Given the description of an element on the screen output the (x, y) to click on. 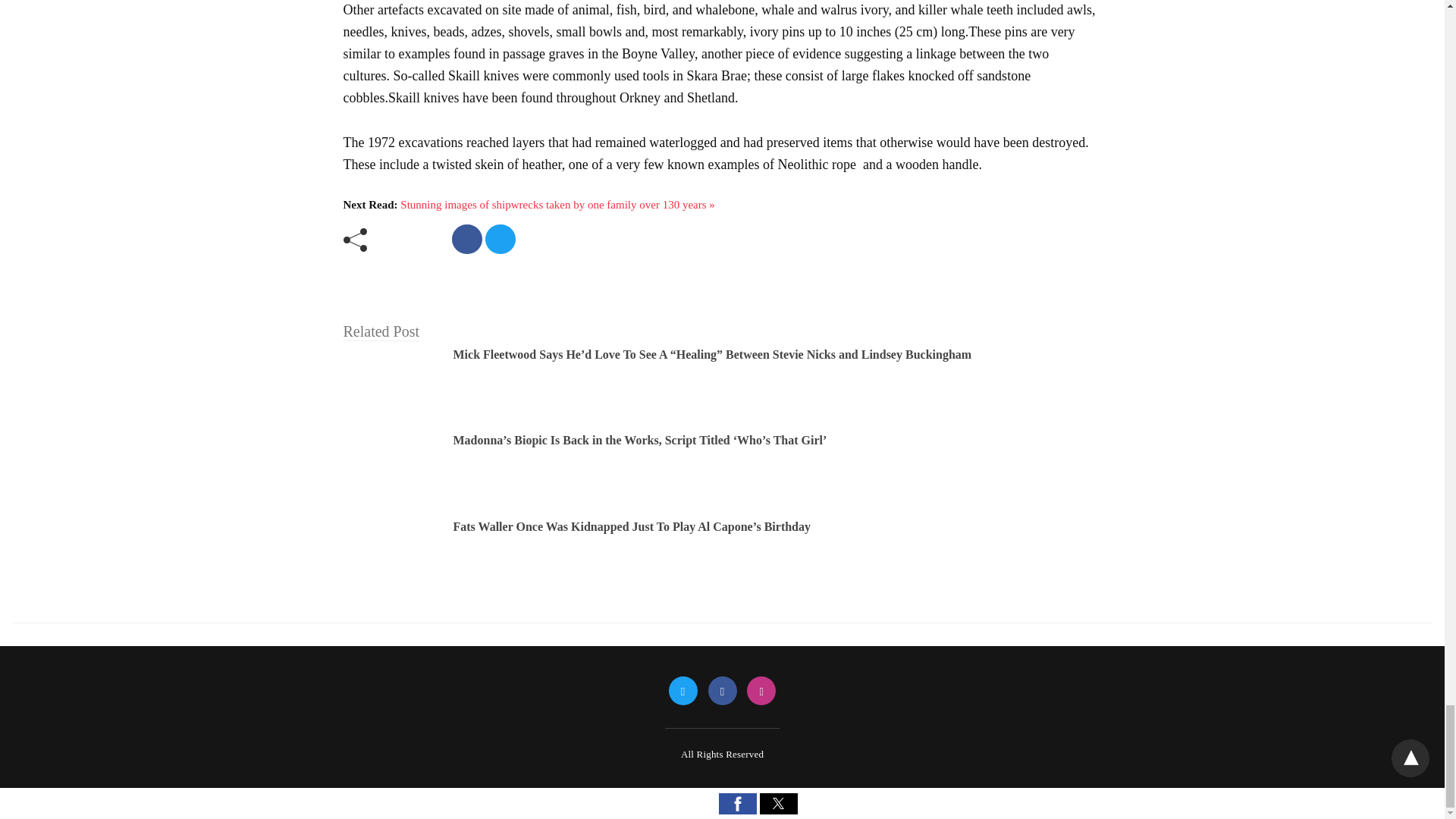
twitter profile (682, 691)
facebook profile (721, 691)
twitter share (499, 238)
instagram profile (761, 691)
facebook share (466, 238)
